Given the description of an element on the screen output the (x, y) to click on. 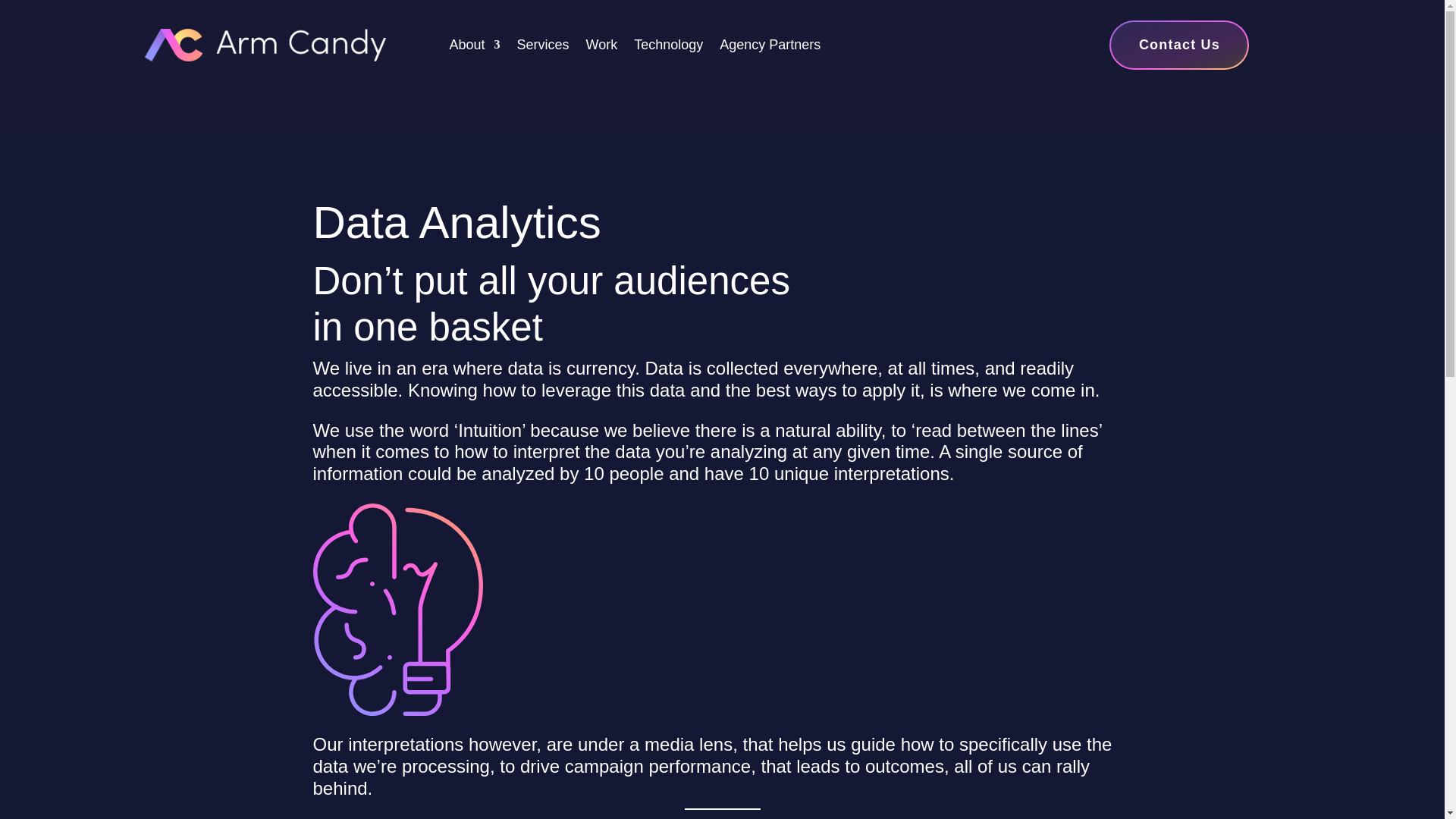
Technology (668, 47)
Services (542, 47)
About (473, 47)
Agency Partners (770, 47)
Work (601, 47)
Contact Us (1178, 44)
